Given the description of an element on the screen output the (x, y) to click on. 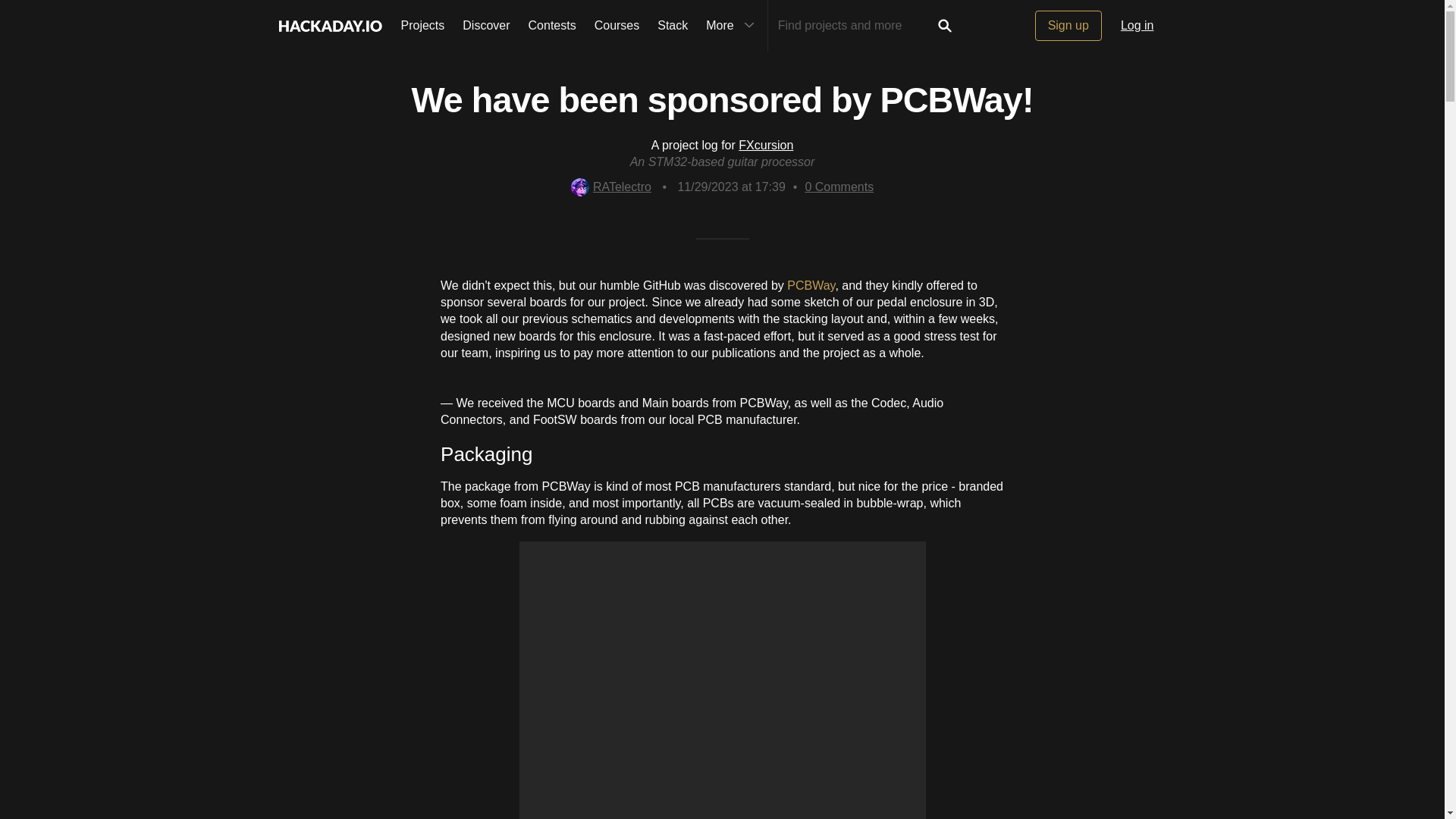
See Comments (839, 186)
FXcursion (765, 144)
Search (944, 25)
Sign up (1068, 25)
PCBWay (810, 285)
0 Comments (839, 186)
Stack (672, 25)
Contests (552, 25)
Hackaday.io (329, 25)
More (732, 25)
